Given the description of an element on the screen output the (x, y) to click on. 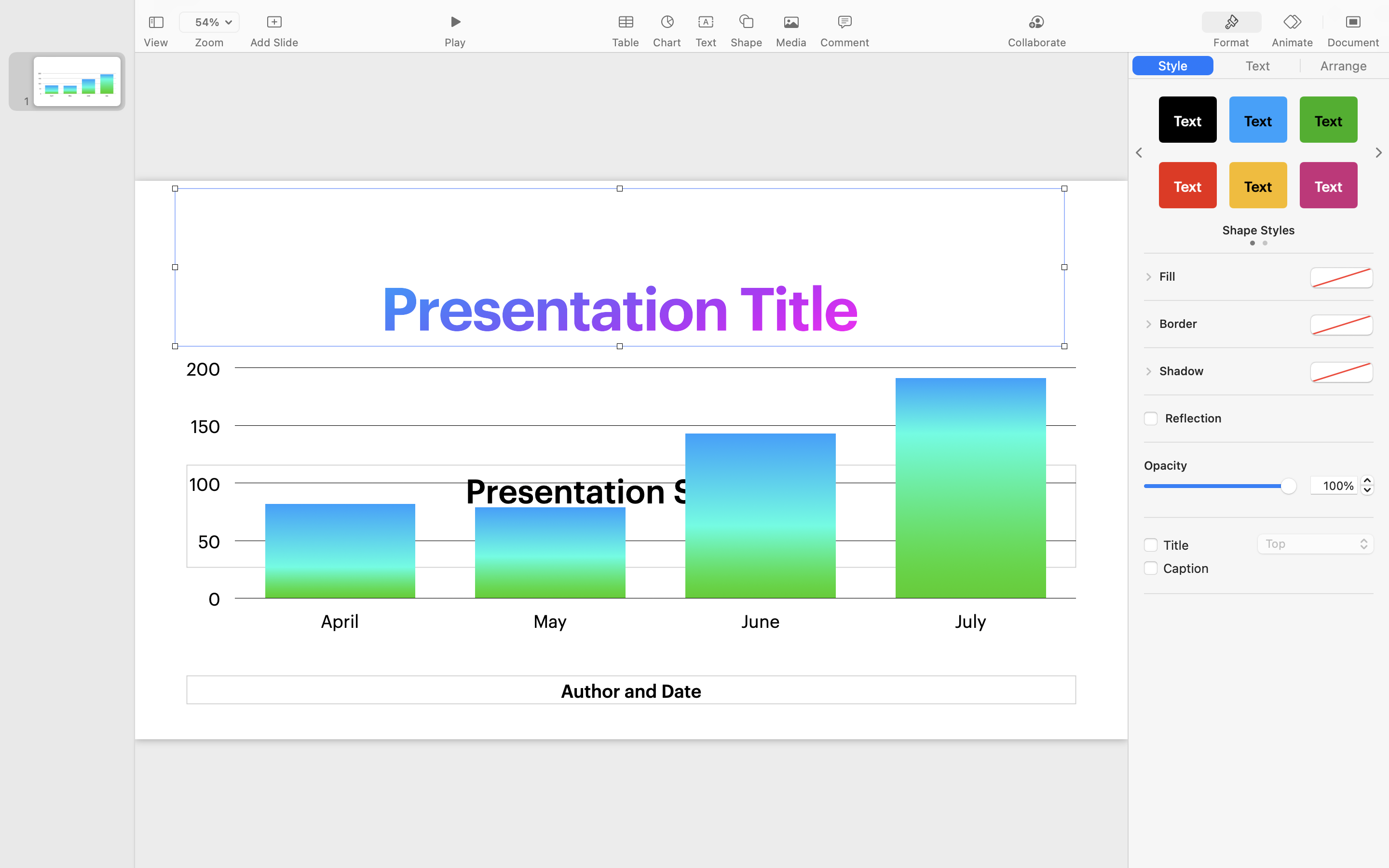
Border Element type: AXStaticText (1177, 323)
Opacity Element type: AXStaticText (1165, 465)
100% Element type: AXTextField (1333, 484)
Media Element type: AXStaticText (790, 42)
1.0 Element type: AXSlider (1220, 485)
